Given the description of an element on the screen output the (x, y) to click on. 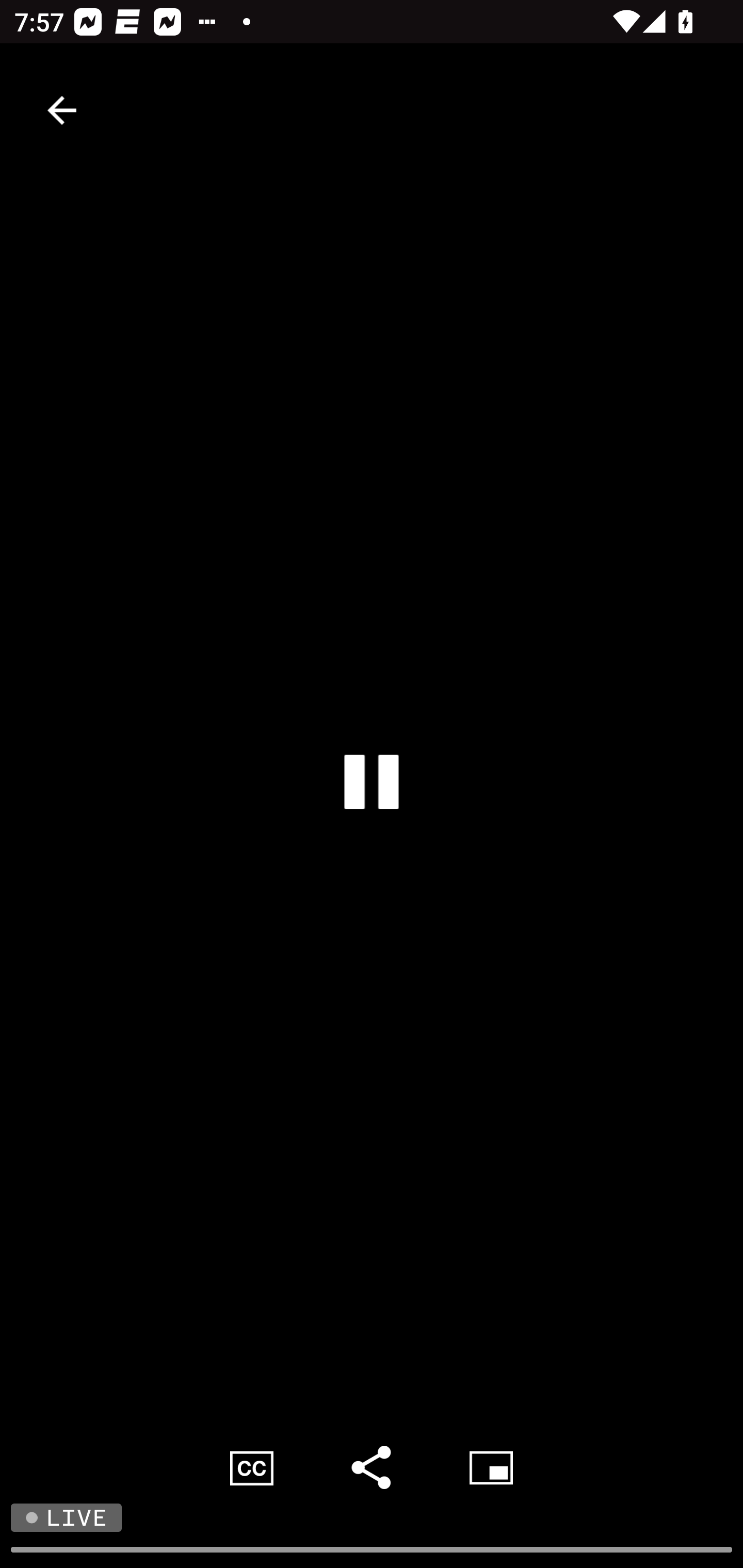
Back (61, 110)
Pause (371, 781)
Closed Captions, ON (251, 1467)
Share Media (371, 1467)
Picture in Picture Media (490, 1467)
